Given the description of an element on the screen output the (x, y) to click on. 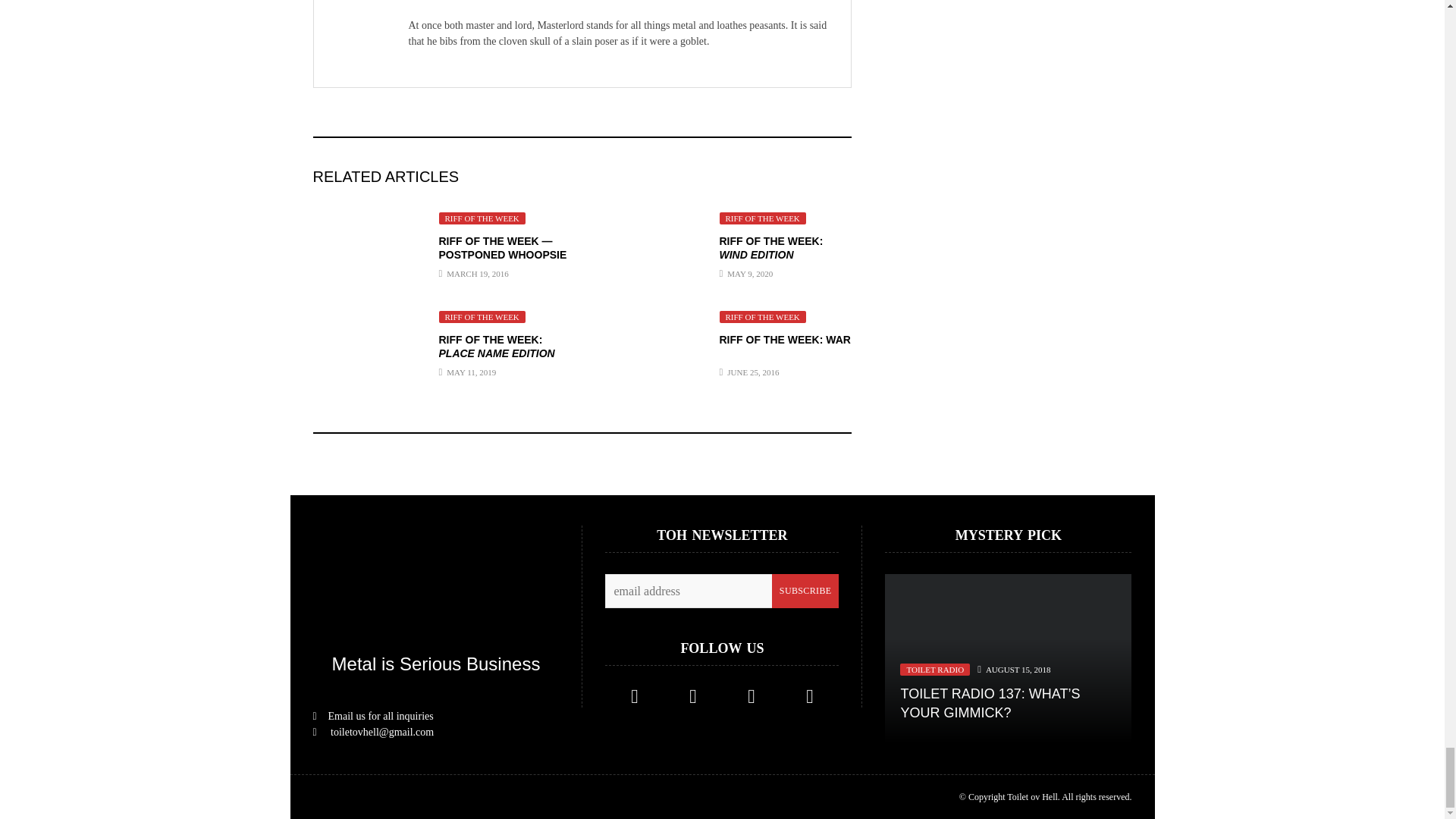
Subscribe (805, 591)
